Given the description of an element on the screen output the (x, y) to click on. 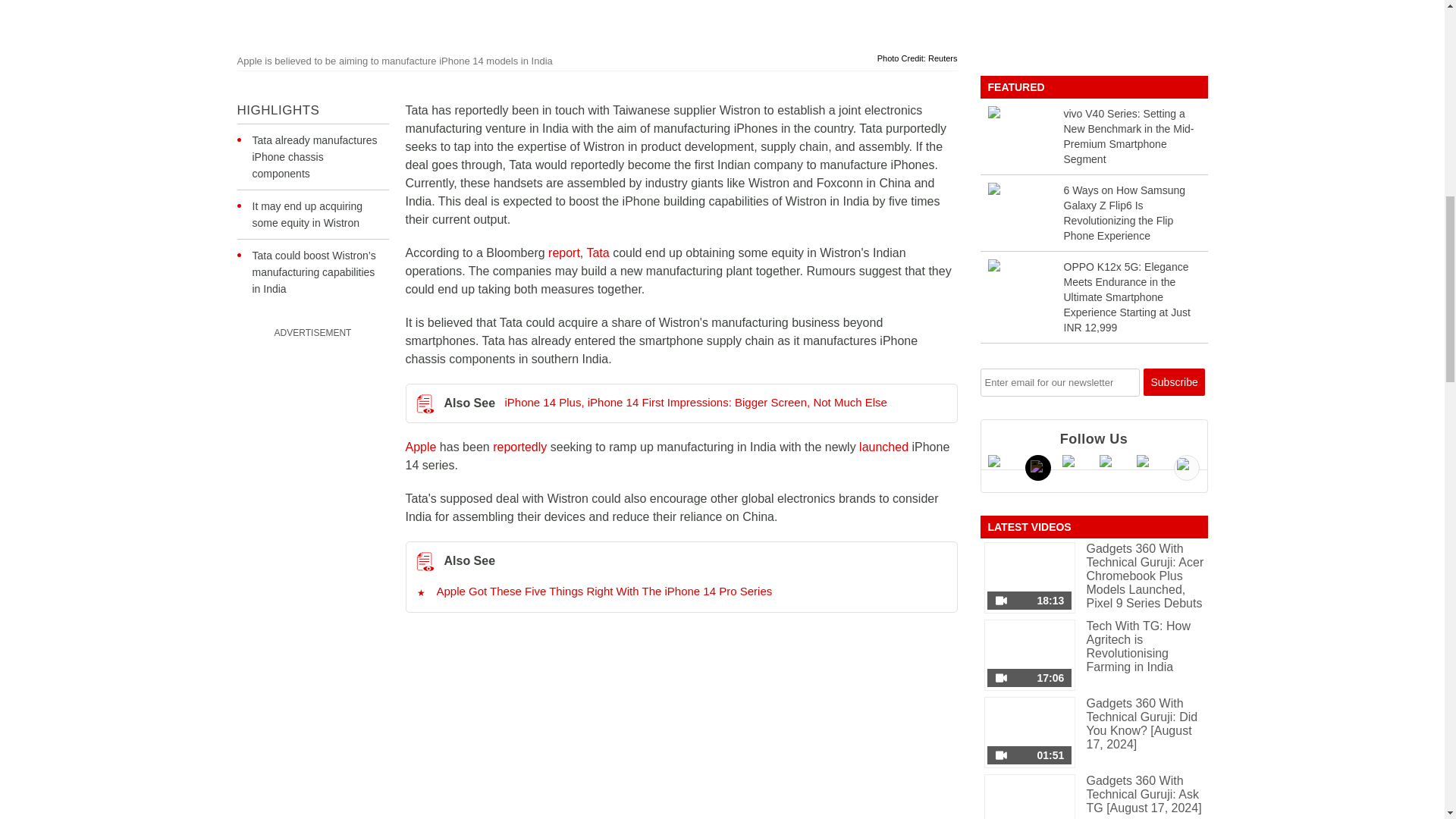
Apple (419, 446)
Subscribe (1173, 381)
Tata (597, 252)
report (563, 252)
launched (883, 446)
reportedly (520, 446)
